Given the description of an element on the screen output the (x, y) to click on. 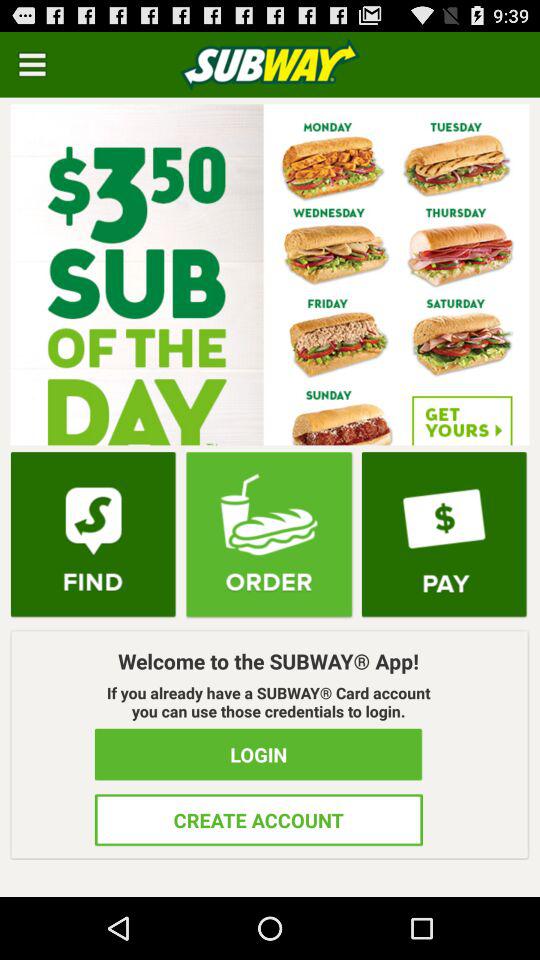
open offer (269, 274)
